Given the description of an element on the screen output the (x, y) to click on. 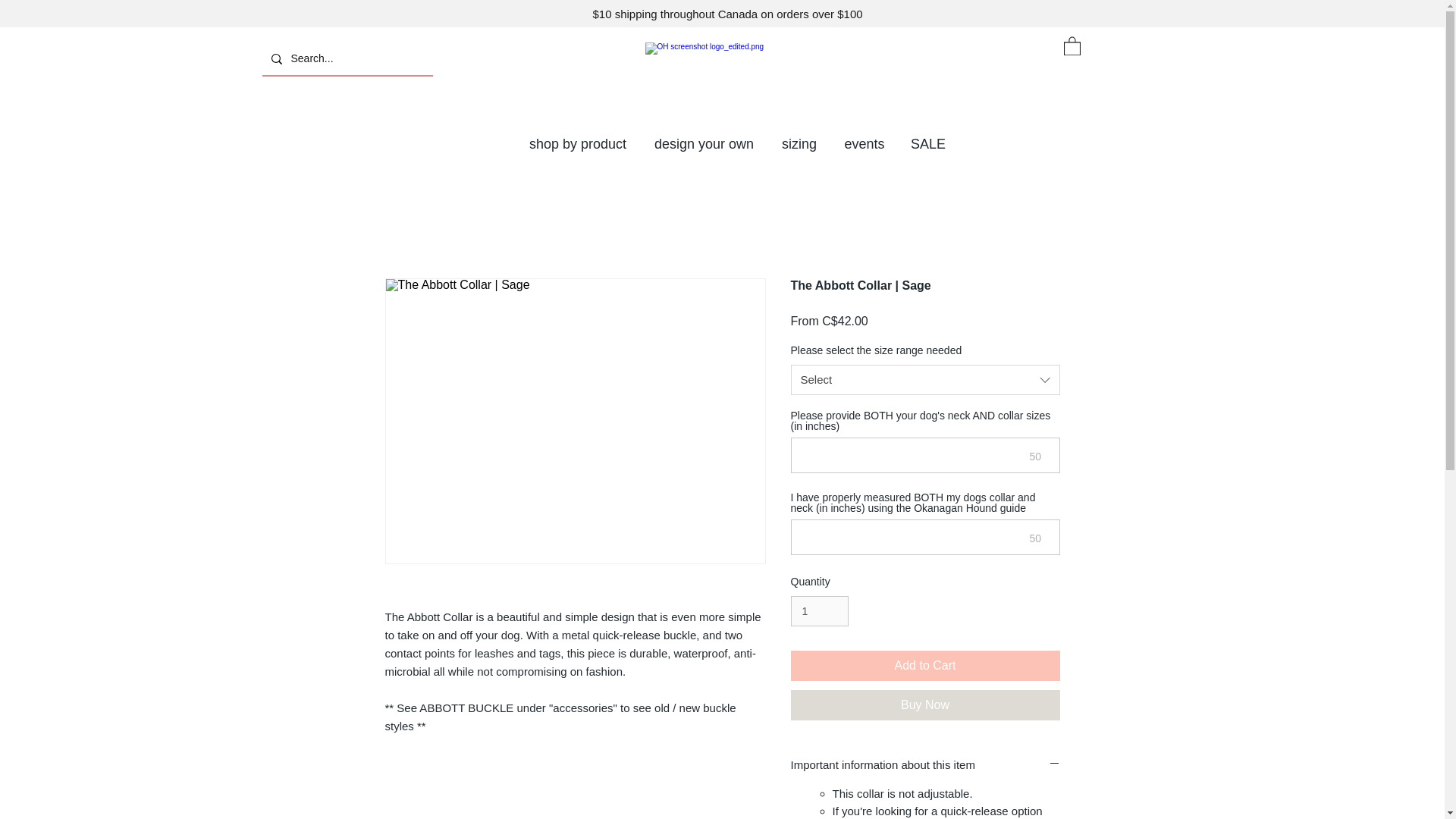
SALE (928, 144)
design your own (703, 144)
events (864, 144)
1 (818, 611)
Select (924, 379)
sizing (798, 144)
Buy Now (924, 705)
Add to Cart (924, 665)
Important information about this item (924, 764)
